Given the description of an element on the screen output the (x, y) to click on. 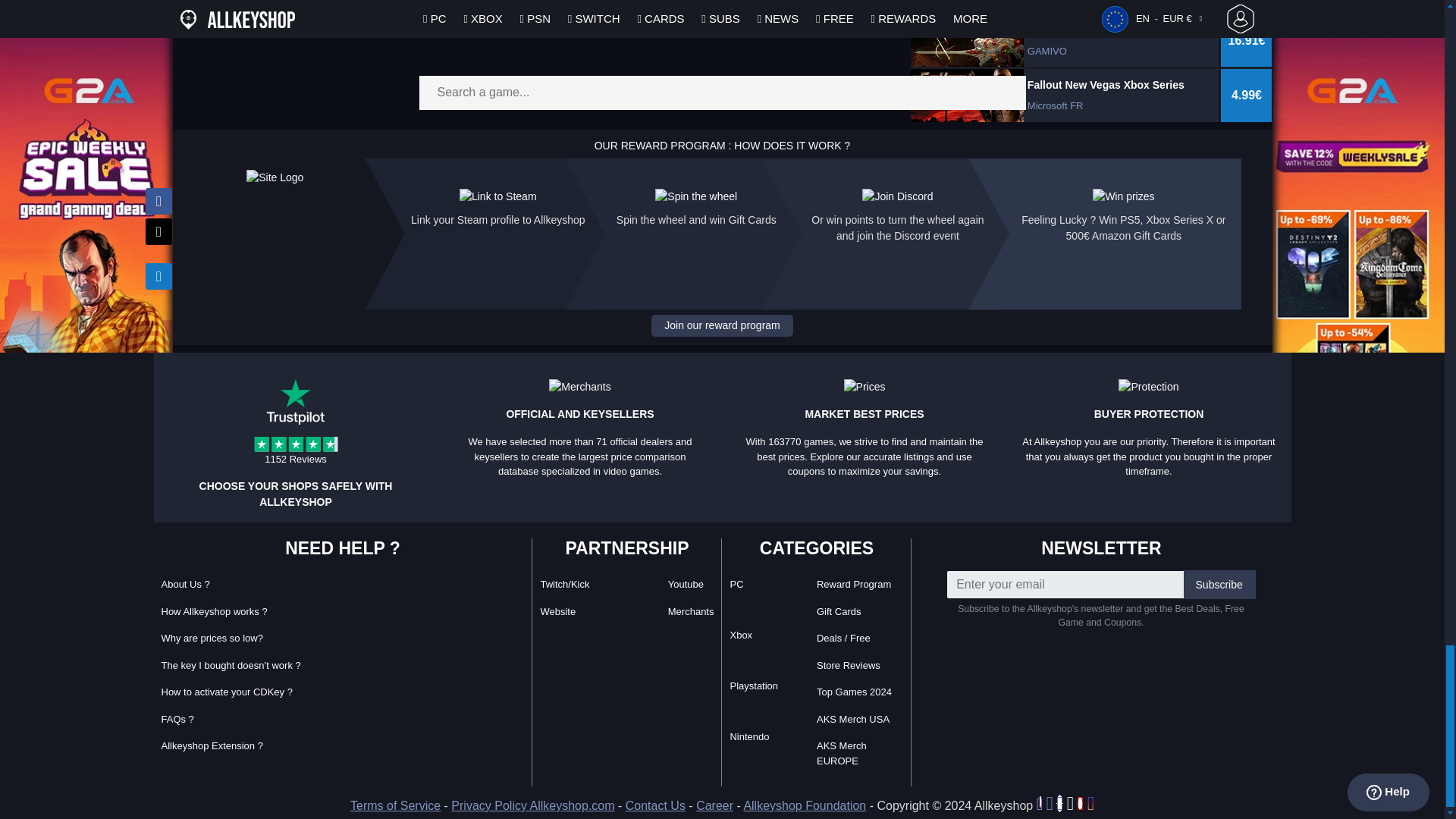
Subscribe (1218, 584)
